Given the description of an element on the screen output the (x, y) to click on. 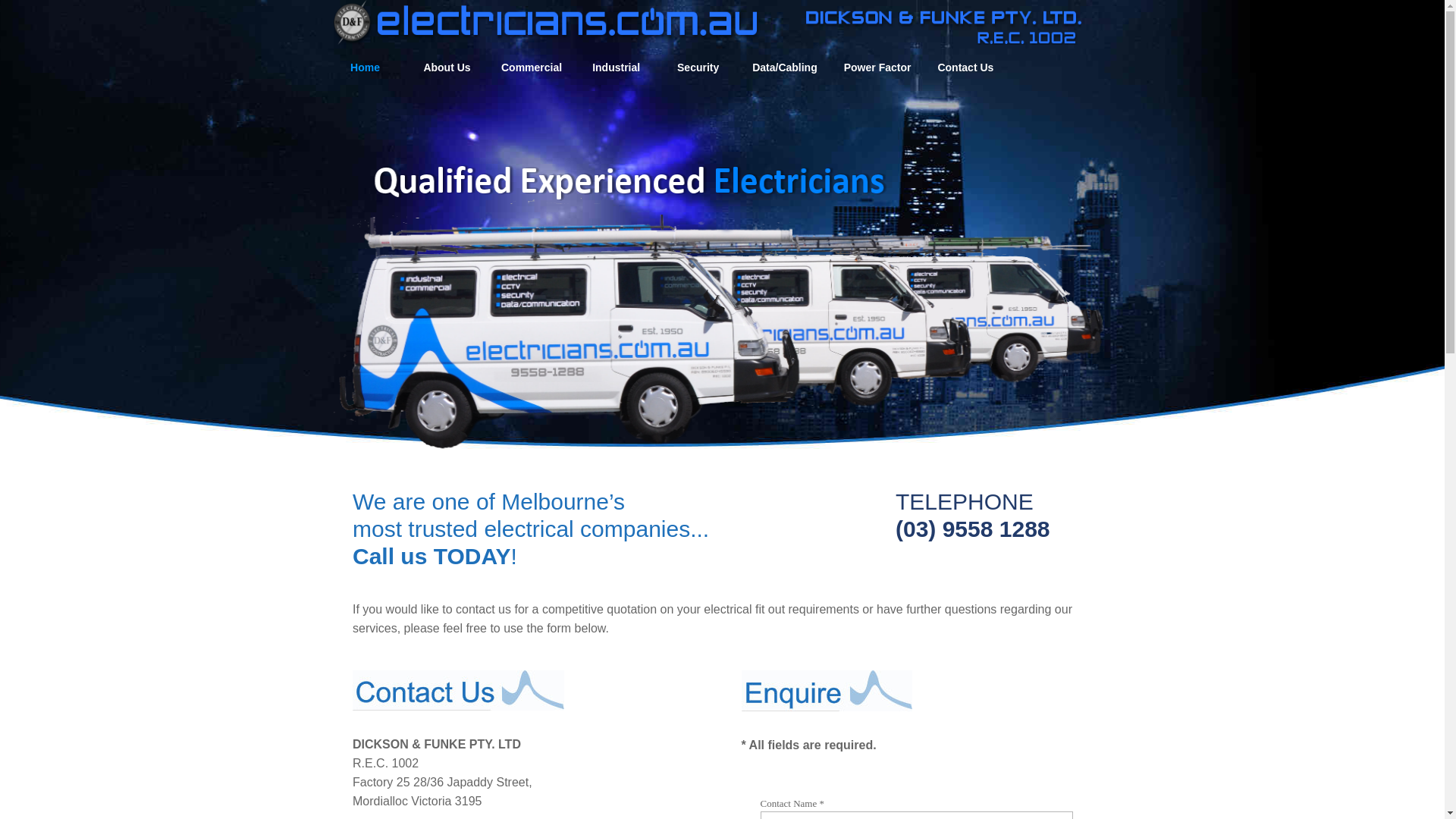
Industrial Element type: text (615, 67)
Power Factor Element type: text (877, 67)
Home Element type: text (364, 67)
Data/Cabling Element type: text (784, 67)
Security Element type: text (697, 67)
About Us Element type: text (446, 67)
Contact Us Element type: text (965, 67)
Commercial Element type: text (531, 67)
